Given the description of an element on the screen output the (x, y) to click on. 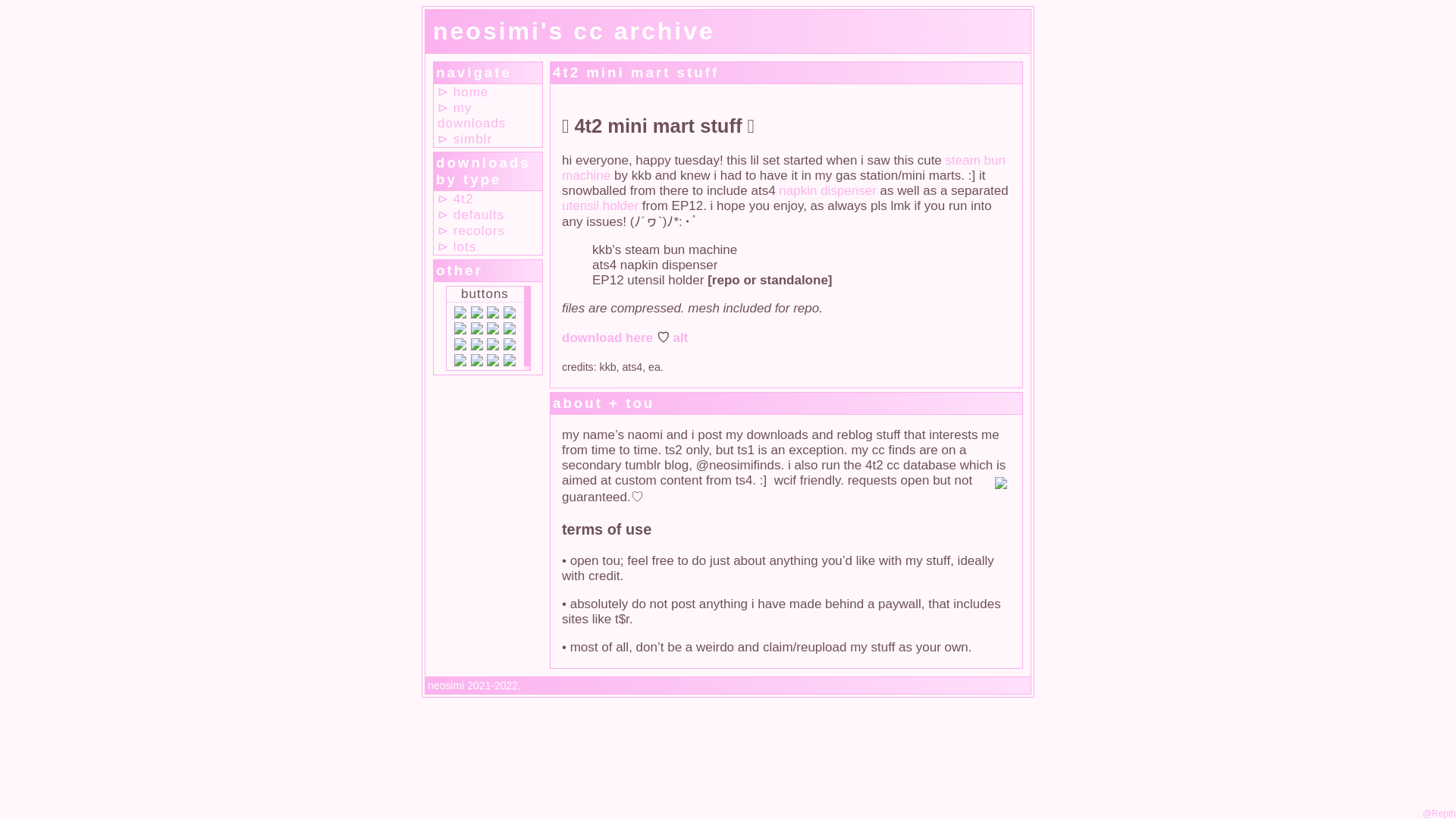
utensil holder (600, 205)
napkin dispenser (827, 190)
download here (607, 337)
alt (679, 337)
steam bun machine (784, 167)
